Given the description of an element on the screen output the (x, y) to click on. 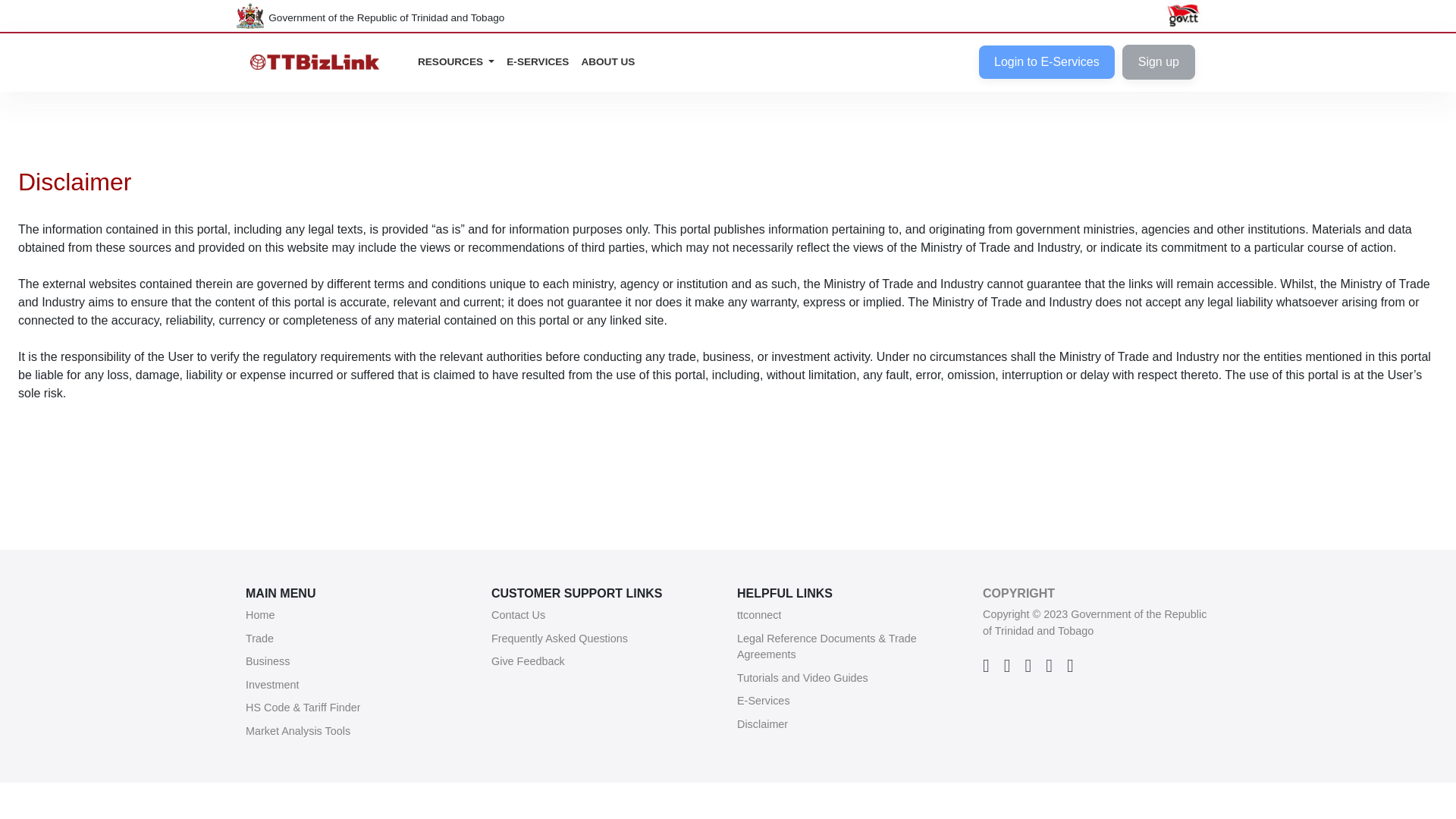
Home (260, 615)
Market Analysis Tools (298, 731)
RESOURCES (456, 61)
Give Feedback (528, 661)
Investment (272, 685)
Business (267, 661)
Contact Us (518, 615)
Frequently Asked Questions (559, 638)
ABOUT US (607, 61)
ttconnect (758, 615)
Tutorials and Video Guides (801, 678)
Login to E-Services (1050, 61)
E-SERVICES (537, 61)
Trade (259, 638)
Login to E-Services (1046, 61)
